Given the description of an element on the screen output the (x, y) to click on. 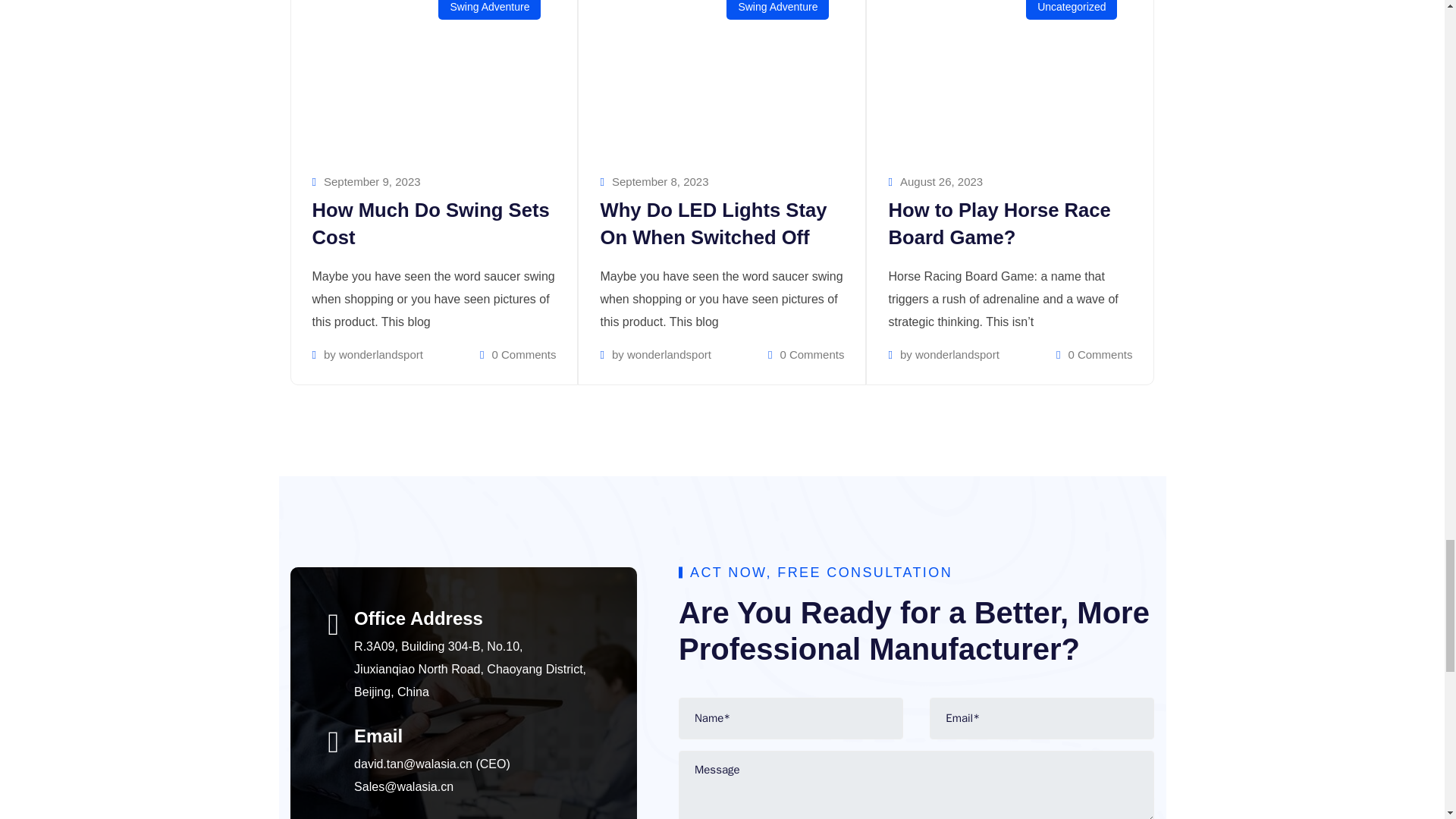
Posts by wonderlandsport (669, 354)
Posts by wonderlandsport (381, 354)
Posts by wonderlandsport (956, 354)
